Given the description of an element on the screen output the (x, y) to click on. 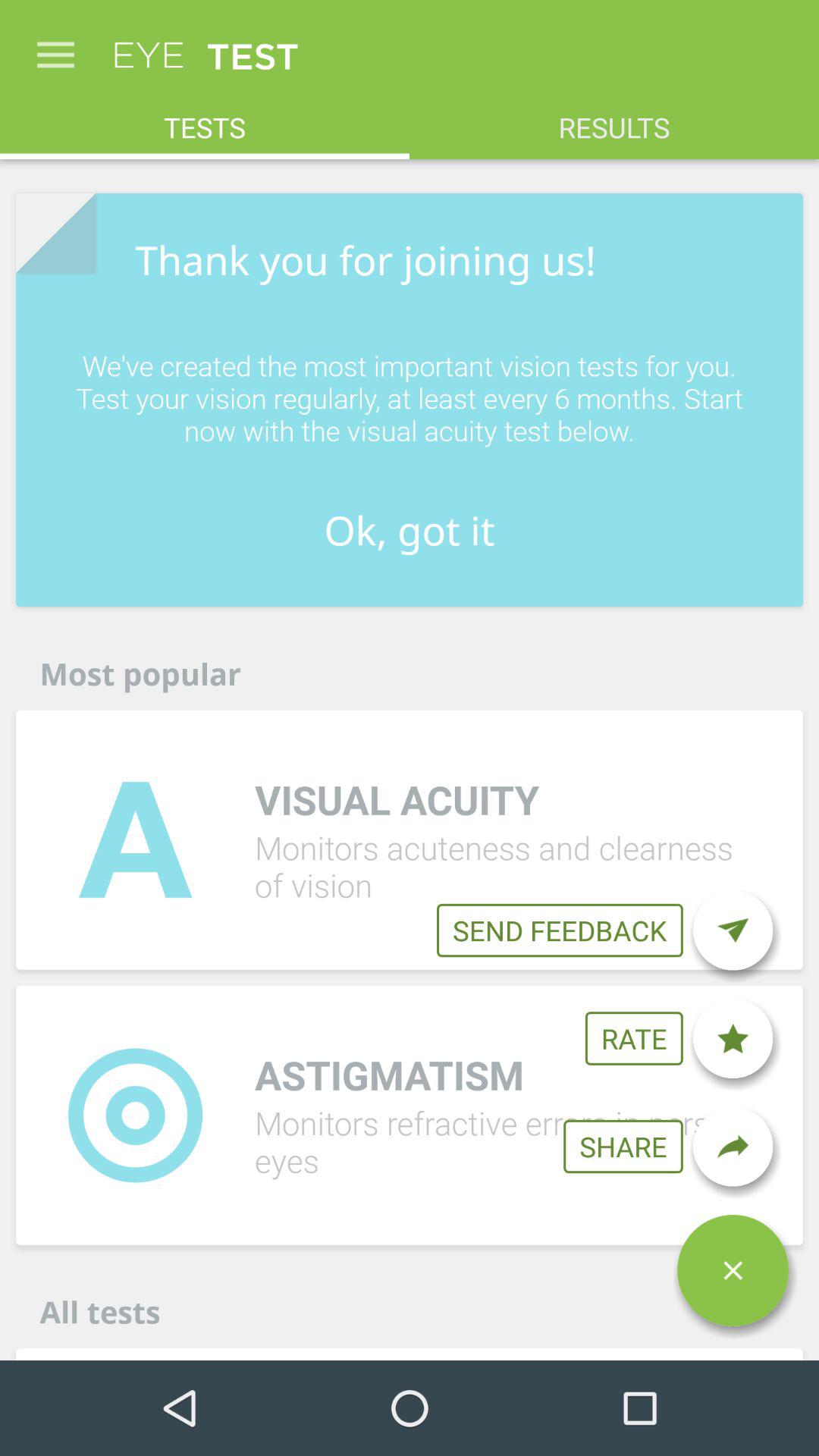
press the ok, got it icon (409, 529)
